Given the description of an element on the screen output the (x, y) to click on. 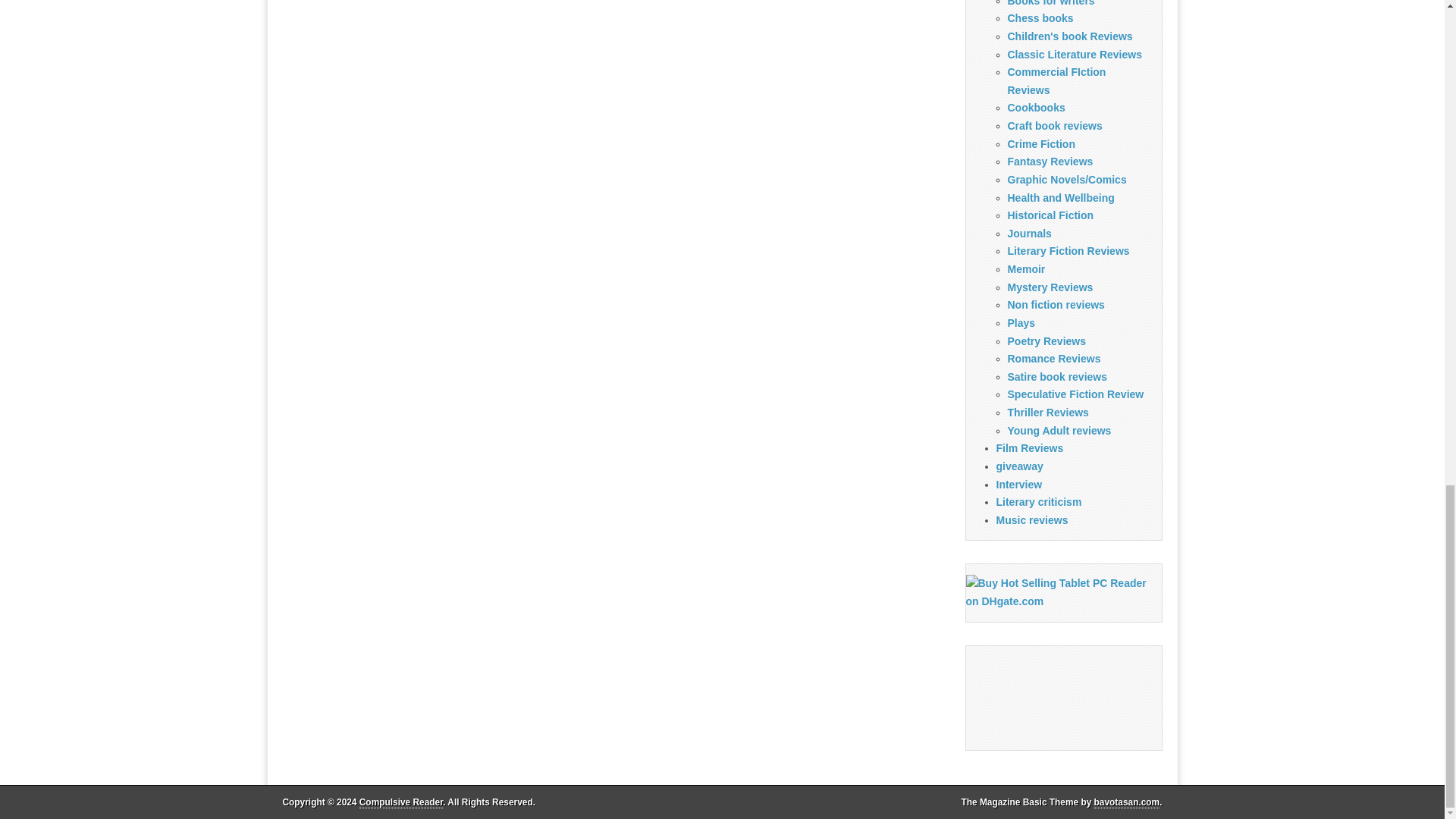
Historical Fiction (1050, 215)
Books for writers (1050, 3)
Classic Literature Reviews (1074, 54)
Chess books (1040, 18)
Children's book Reviews (1069, 36)
Crime Fiction (1040, 143)
Health and Wellbeing (1060, 197)
Craft book reviews (1054, 125)
Commercial FIction Reviews (1056, 81)
